Given the description of an element on the screen output the (x, y) to click on. 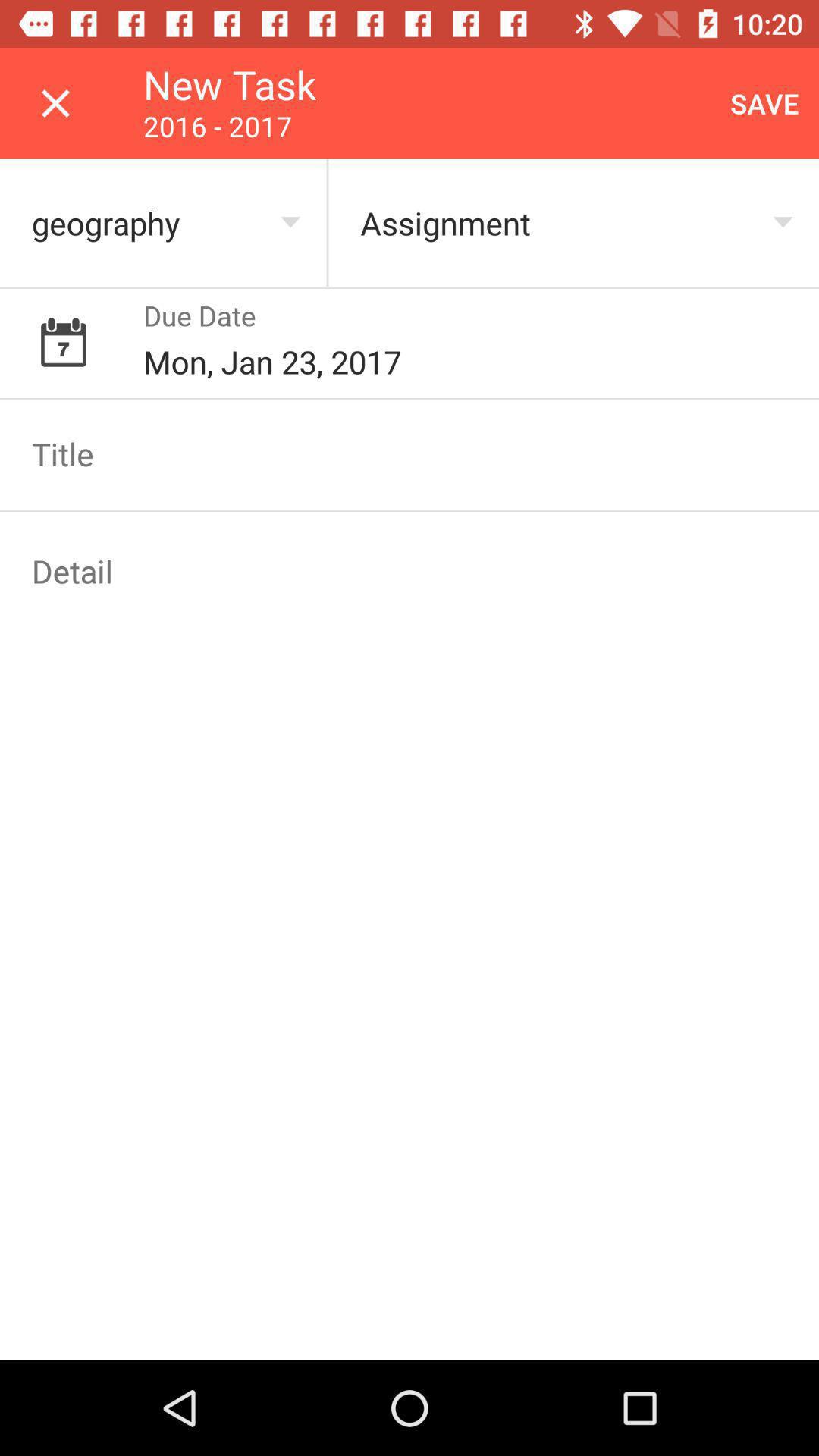
blankpage (409, 570)
